Given the description of an element on the screen output the (x, y) to click on. 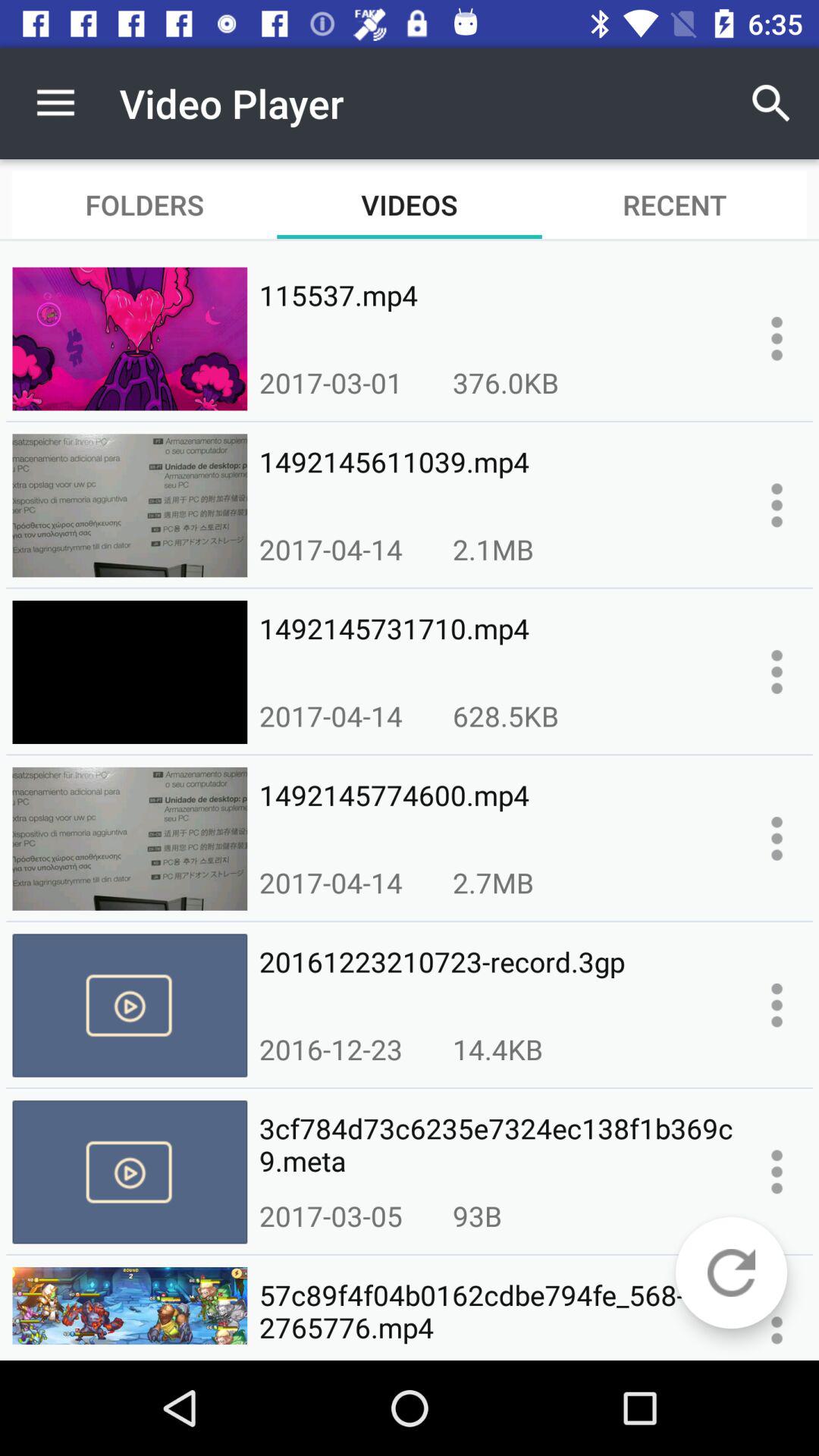
press the item below the 2017-04-14 icon (496, 978)
